Given the description of an element on the screen output the (x, y) to click on. 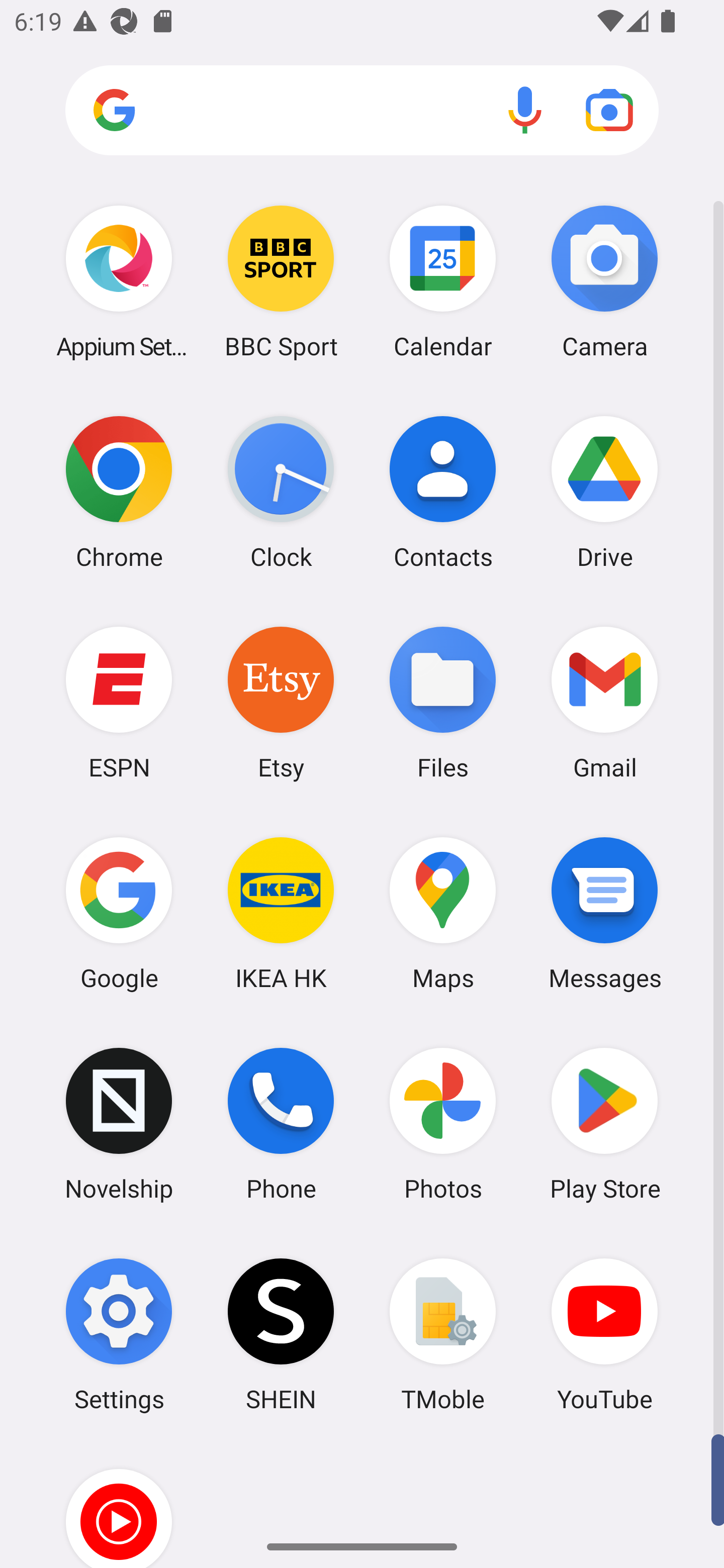
Search apps, web and more (361, 110)
Voice search (524, 109)
Google Lens (608, 109)
Appium Settings (118, 281)
BBC Sport (280, 281)
Calendar (443, 281)
Camera (604, 281)
Chrome (118, 492)
Clock (280, 492)
Contacts (443, 492)
Drive (604, 492)
ESPN (118, 702)
Etsy (280, 702)
Files (443, 702)
Gmail (604, 702)
Google (118, 913)
IKEA HK (280, 913)
Maps (443, 913)
Messages (604, 913)
Novelship (118, 1124)
Phone (280, 1124)
Photos (443, 1124)
Play Store (604, 1124)
Settings (118, 1334)
SHEIN (280, 1334)
TMoble (443, 1334)
YouTube (604, 1334)
YT Music (118, 1503)
